Given the description of an element on the screen output the (x, y) to click on. 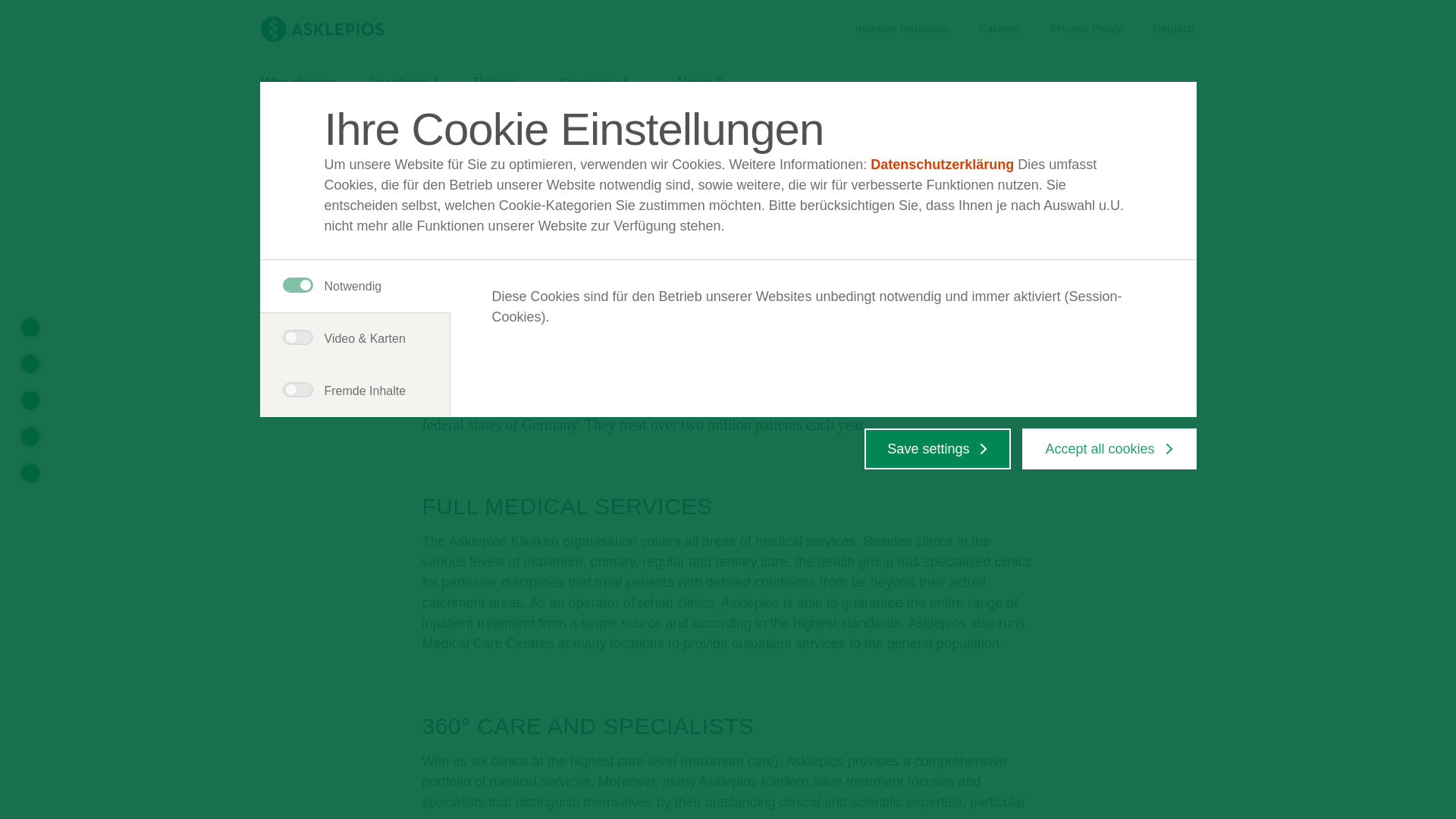
Why choose Asklepios (514, 133)
Investor Relations (902, 29)
Asklepios Kliniken International (341, 133)
Investor Relations (902, 29)
Medical Excellence (499, 96)
Deutsch (654, 133)
Privacy Policy (1174, 29)
Careers (1085, 29)
Experience and Equipment (999, 29)
Combined Competency (30, 400)
Privacy Policy (30, 473)
Centers of Excellence (1085, 29)
Careers (298, 96)
